Given the description of an element on the screen output the (x, y) to click on. 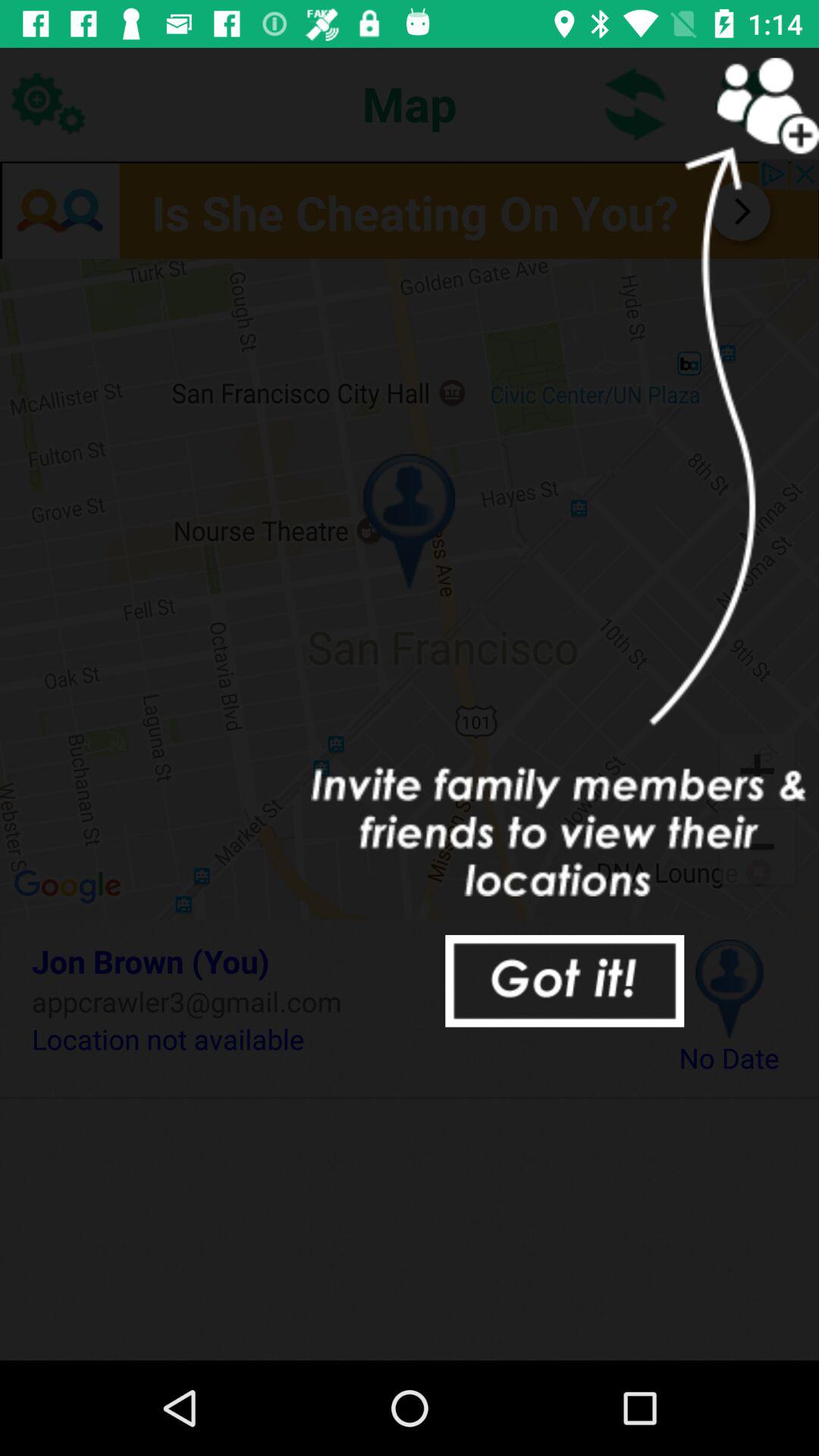
choose item to the right of the map icon (635, 103)
